Given the description of an element on the screen output the (x, y) to click on. 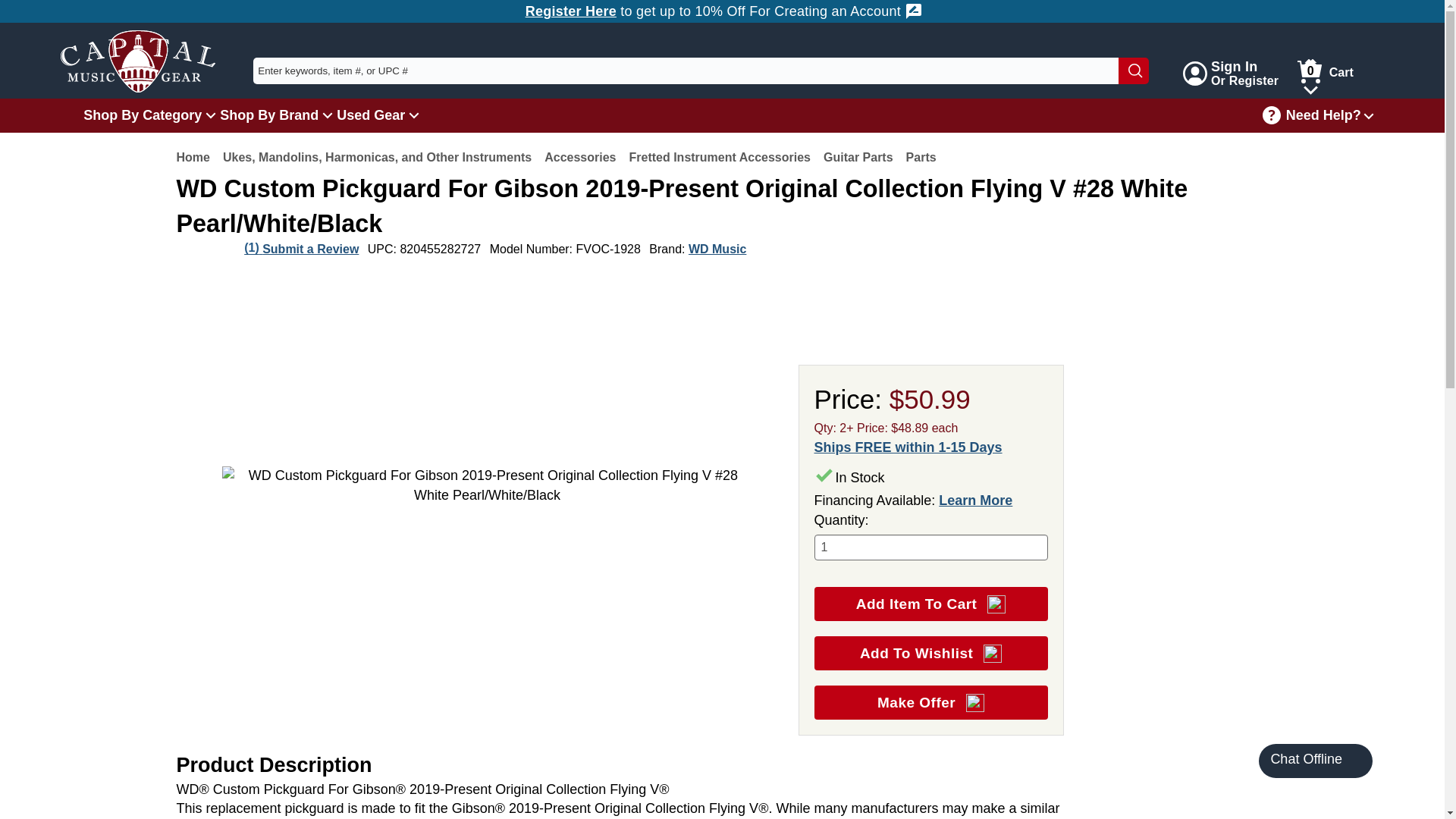
Ukes, Mandolins, Harmonicas, and Other Instruments (376, 156)
Home (192, 156)
Home (138, 56)
Accessories (579, 156)
Register Here (570, 11)
1 (930, 547)
Parts (1228, 73)
Shop By Category (1322, 71)
